Given the description of an element on the screen output the (x, y) to click on. 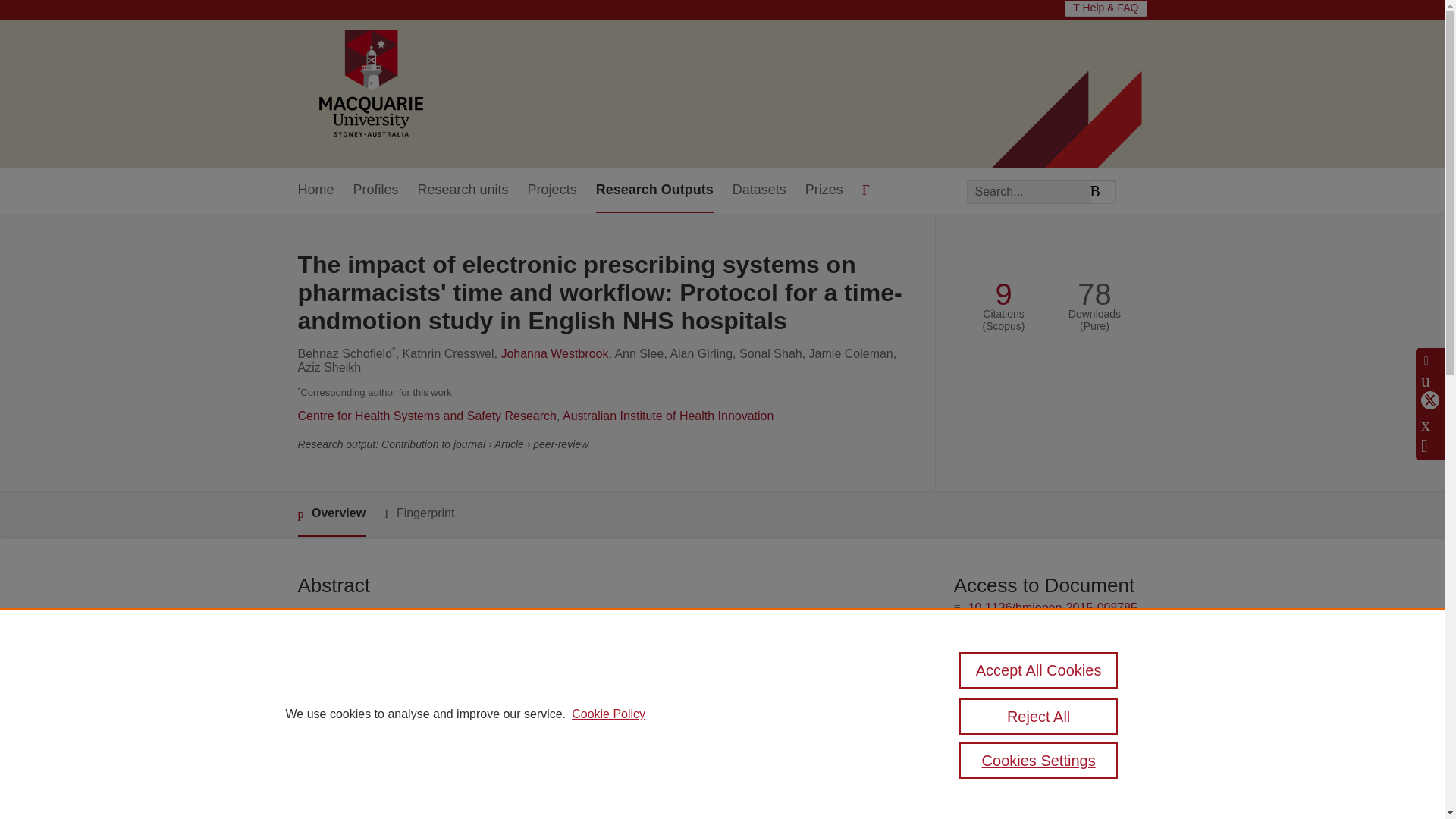
Datasets (759, 190)
Centre for Health Systems and Safety Research (426, 415)
Research Outputs (654, 190)
Profiles (375, 190)
Australian Institute of Health Innovation (667, 415)
Projects (551, 190)
Macquarie University Home (369, 84)
Overview (331, 514)
Johanna Westbrook (554, 353)
Fingerprint (419, 513)
Link to publication in Scopus (1045, 727)
Research units (462, 190)
